Given the description of an element on the screen output the (x, y) to click on. 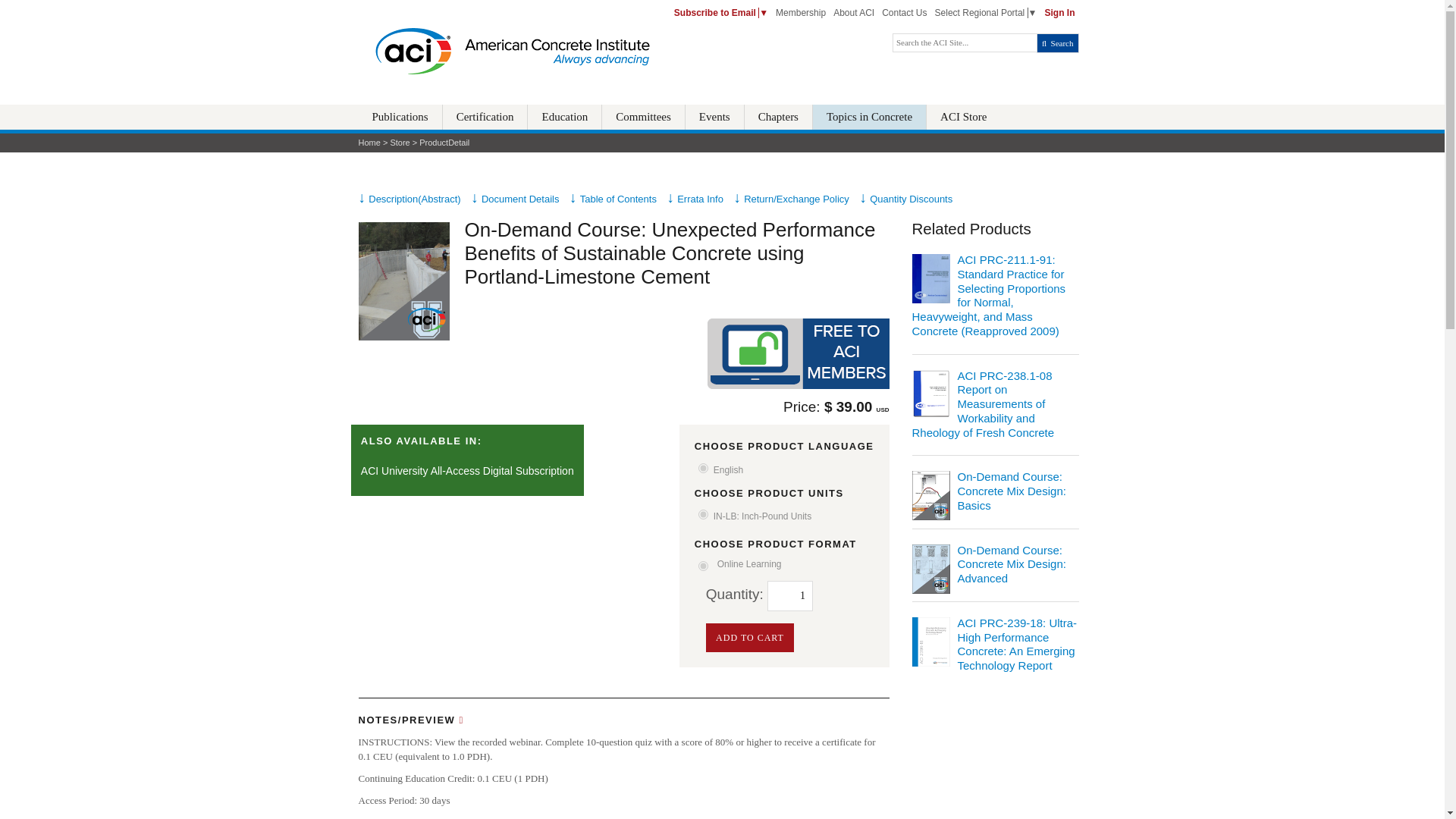
IN-LB: Inch-Pound Units (784, 513)
online learning.  (702, 565)
American Concrete Institute (511, 54)
Add to Cart (750, 637)
Contact Us (903, 12)
Membership (800, 12)
About ACI (853, 12)
1 (789, 595)
online learning.  (784, 563)
English (702, 468)
